Given the description of an element on the screen output the (x, y) to click on. 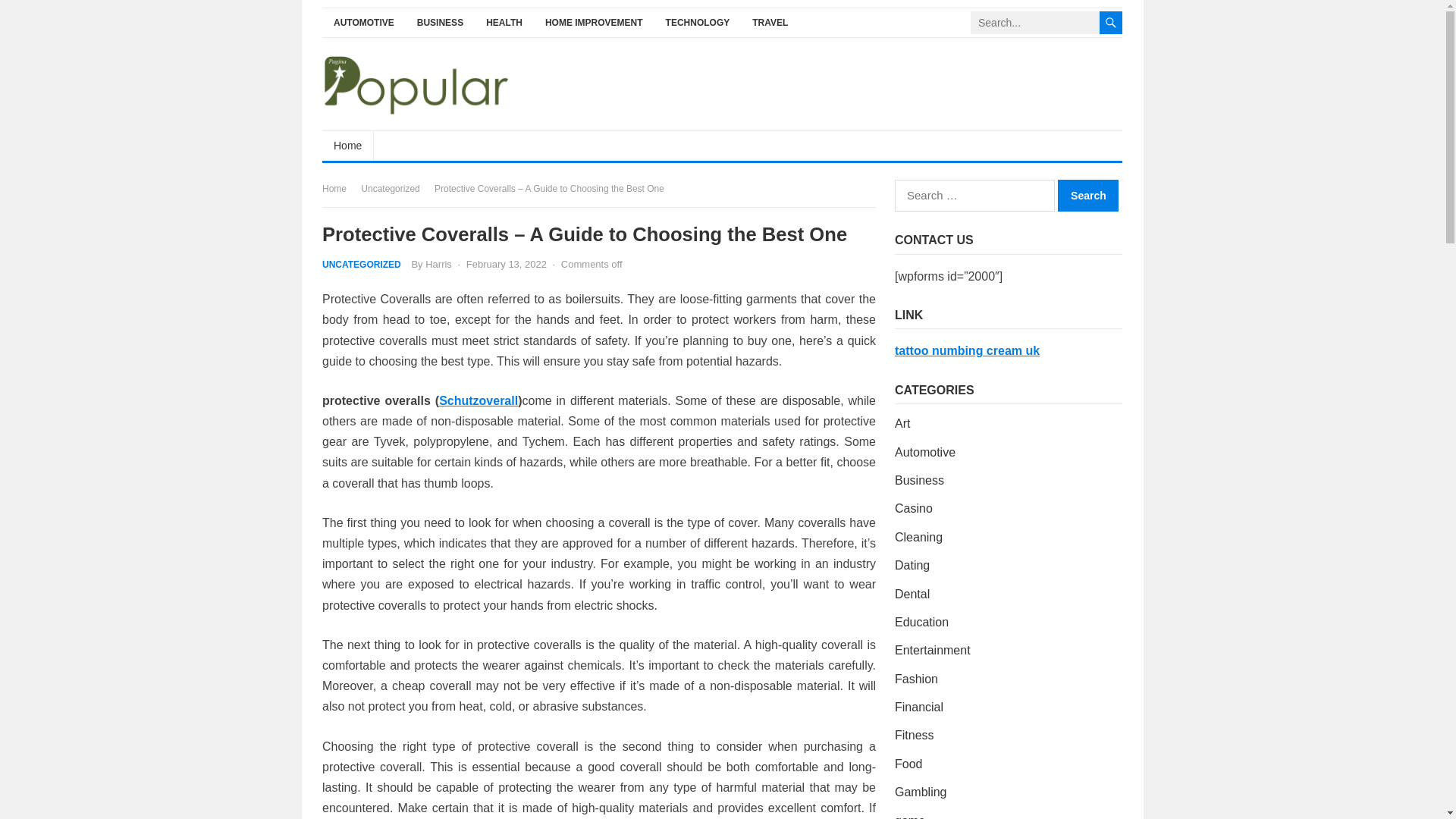
Posts by Harris (438, 264)
TRAVEL (770, 22)
Uncategorized (395, 188)
BUSINESS (440, 22)
Search (1088, 195)
Home (338, 188)
Schutzoverall (478, 400)
TECHNOLOGY (697, 22)
Harris (438, 264)
Search (1088, 195)
UNCATEGORIZED (361, 264)
Home (347, 145)
HEALTH (504, 22)
AUTOMOTIVE (363, 22)
HOME IMPROVEMENT (593, 22)
